Given the description of an element on the screen output the (x, y) to click on. 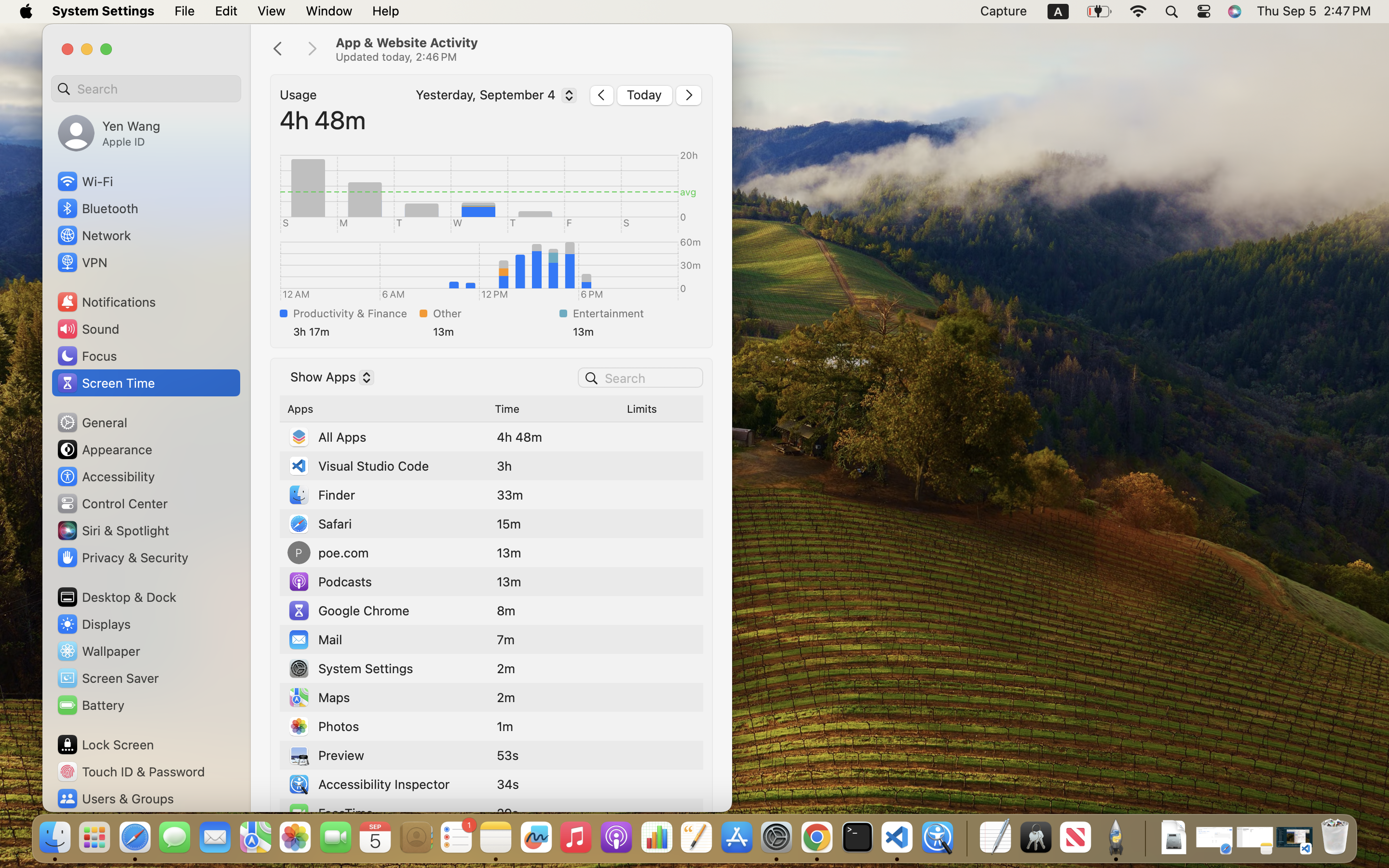
7m Element type: AXStaticText (505, 639)
34s Element type: AXStaticText (507, 783)
Wi‑Fi Element type: AXStaticText (83, 180)
Users & Groups Element type: AXStaticText (114, 798)
Focus Element type: AXStaticText (85, 355)
